Given the description of an element on the screen output the (x, y) to click on. 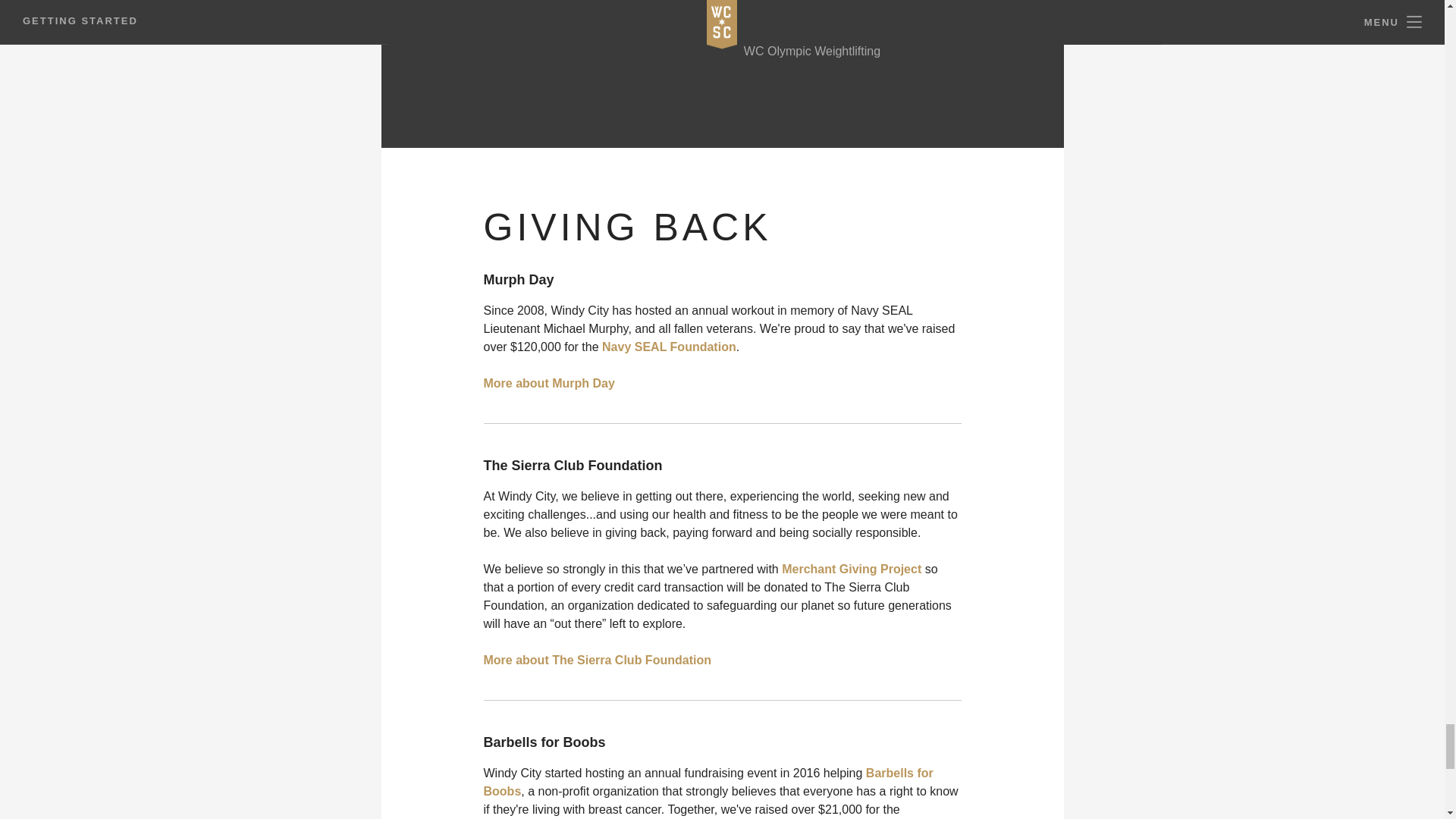
Navy SEAL Foundation (669, 346)
WC GPP (768, 2)
Merchant Giving Project (852, 568)
WC Performance Coaching (817, 24)
WC Olympic Weightlifting (812, 51)
More about Murph Day (548, 382)
